Given the description of an element on the screen output the (x, y) to click on. 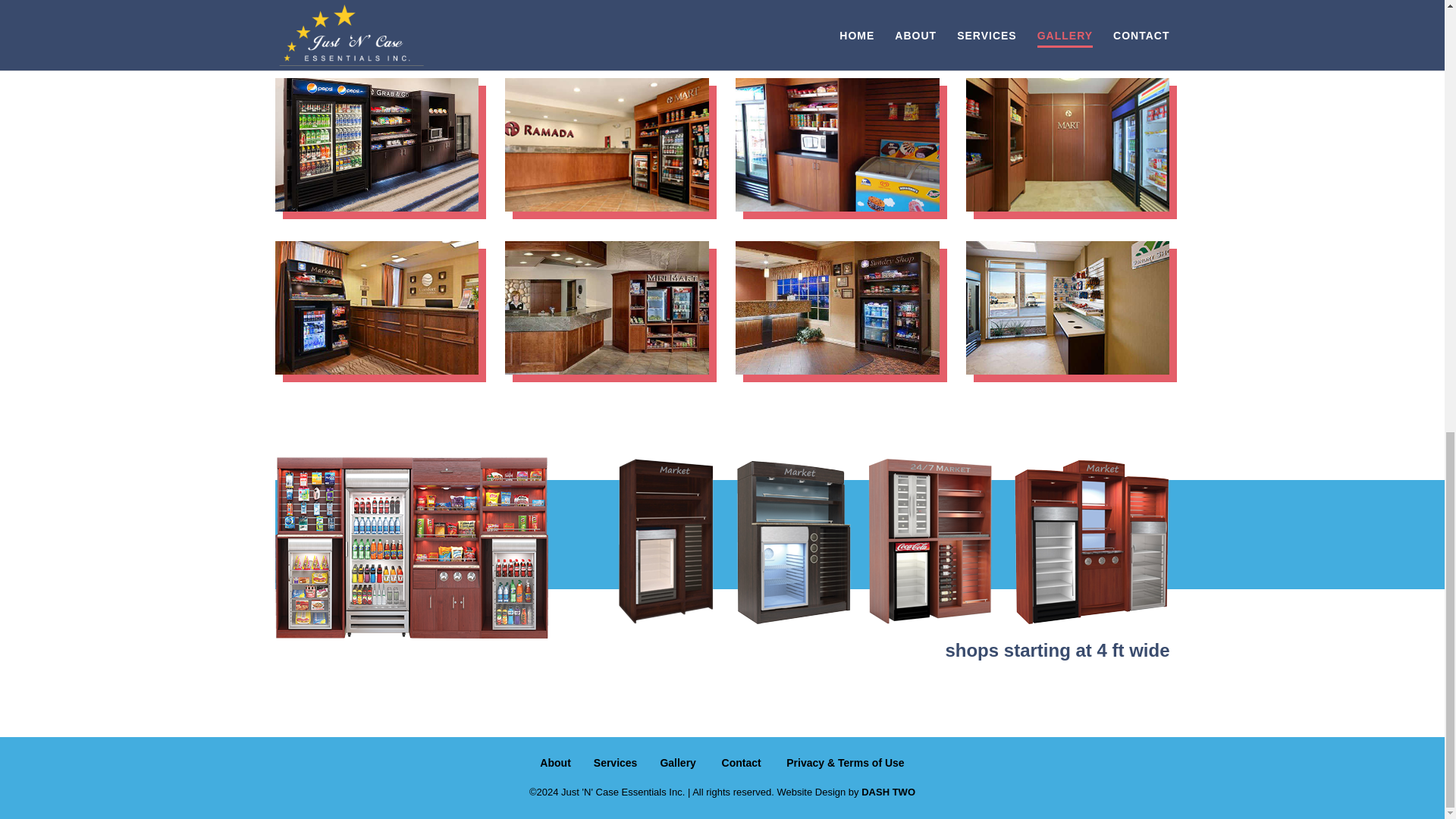
Gallery (677, 762)
DASH TWO (888, 791)
About (555, 762)
Contact (741, 762)
Services (615, 762)
